Given the description of an element on the screen output the (x, y) to click on. 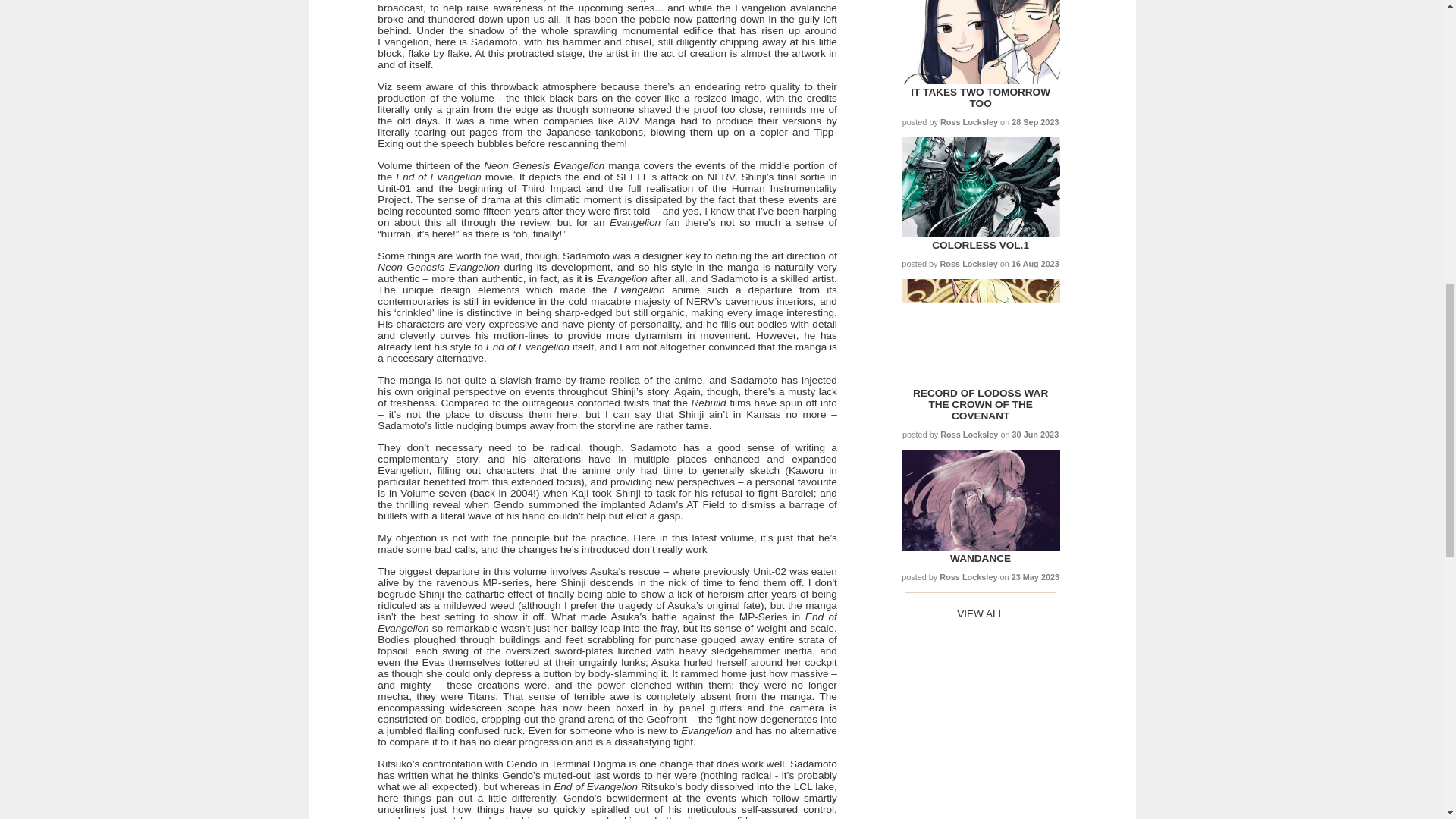
Wandance (980, 546)
RECORD OF LODOSS WAR THE CROWN OF THE COVENANT (980, 404)
It Takes Two Tomorrow Too (980, 97)
Colorless Vol.1 (980, 244)
It Takes Two Tomorrow Too (980, 80)
Record of Lodoss War The Crown of the Covenant (980, 404)
Record of Lodoss War The Crown of the Covenant (980, 381)
COLORLESS VOL.1 (980, 244)
IT TAKES TWO TOMORROW TOO (980, 97)
WANDANCE (980, 558)
